Given the description of an element on the screen output the (x, y) to click on. 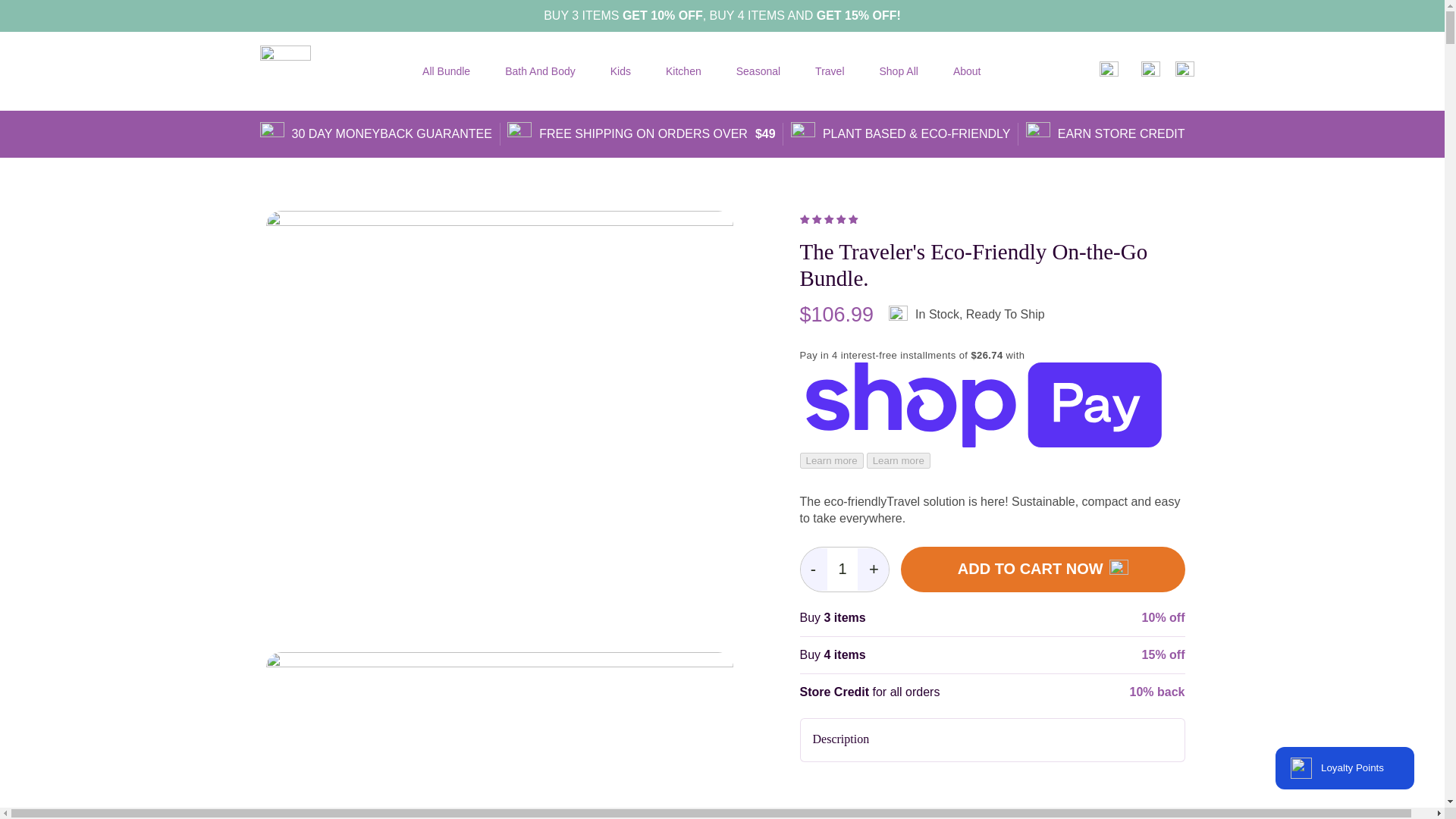
All Bundle (445, 71)
Skip to content (45, 17)
1 (842, 568)
Cart (1183, 70)
Kitchen (683, 71)
Bath And Body (539, 71)
Kids (619, 71)
